Given the description of an element on the screen output the (x, y) to click on. 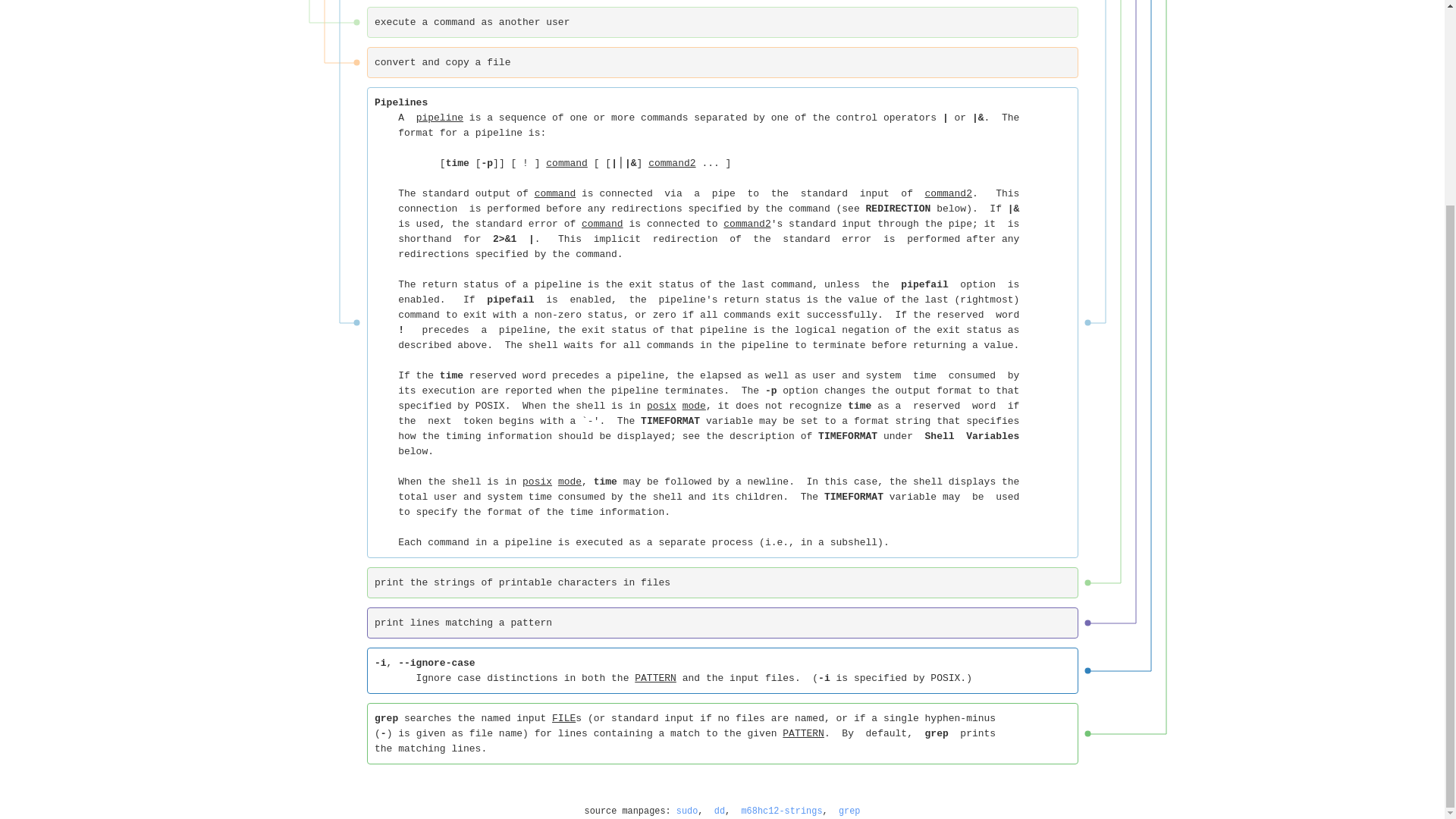
grep (849, 810)
dd (719, 810)
m68hc12-strings (781, 810)
sudo (687, 810)
